Given the description of an element on the screen output the (x, y) to click on. 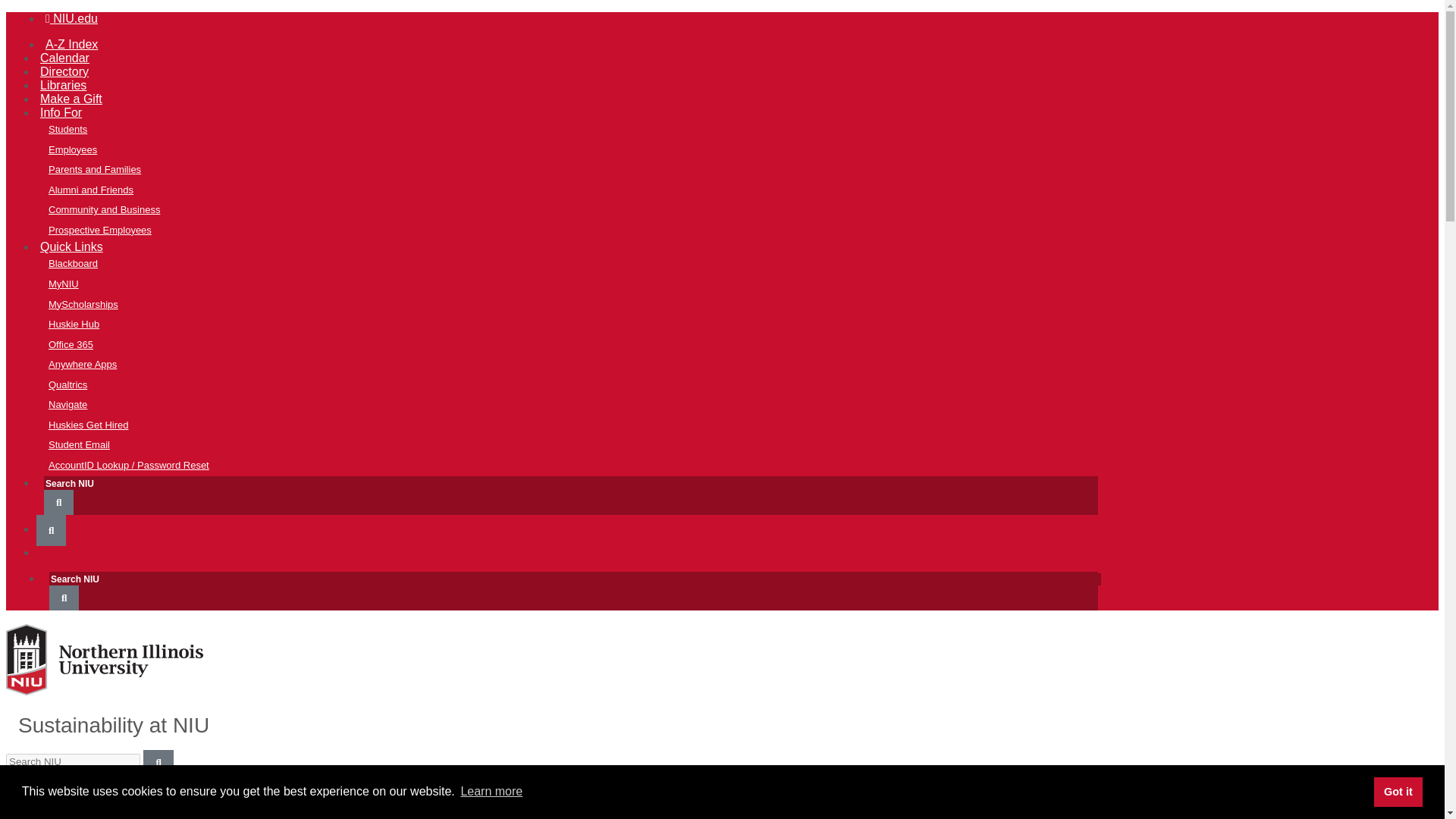
Employees (579, 150)
Northern Illinois University (104, 694)
NIU.edu (71, 18)
Prospective Employees (579, 230)
MyNIU (579, 284)
Community and Business (579, 209)
Calendar (64, 58)
Learn more (491, 791)
About (565, 807)
SUBMIT (63, 597)
Libraries (63, 85)
Huskie Hub (579, 324)
Make a Gift (71, 99)
SUBMIT (50, 530)
A-Z Index (71, 44)
